Given the description of an element on the screen output the (x, y) to click on. 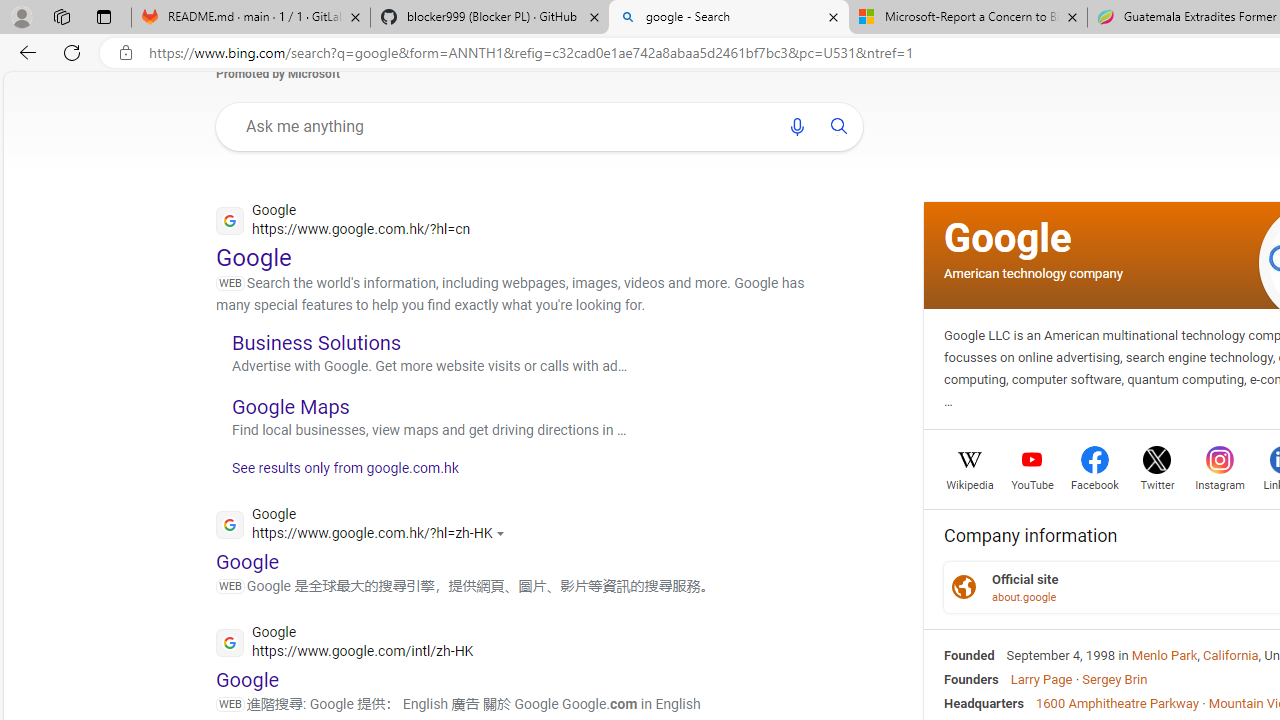
Business Solutions (316, 341)
AutomationID: uaseabtn (839, 126)
Instagram (1219, 483)
Google Maps (290, 406)
Founded (969, 655)
